Given the description of an element on the screen output the (x, y) to click on. 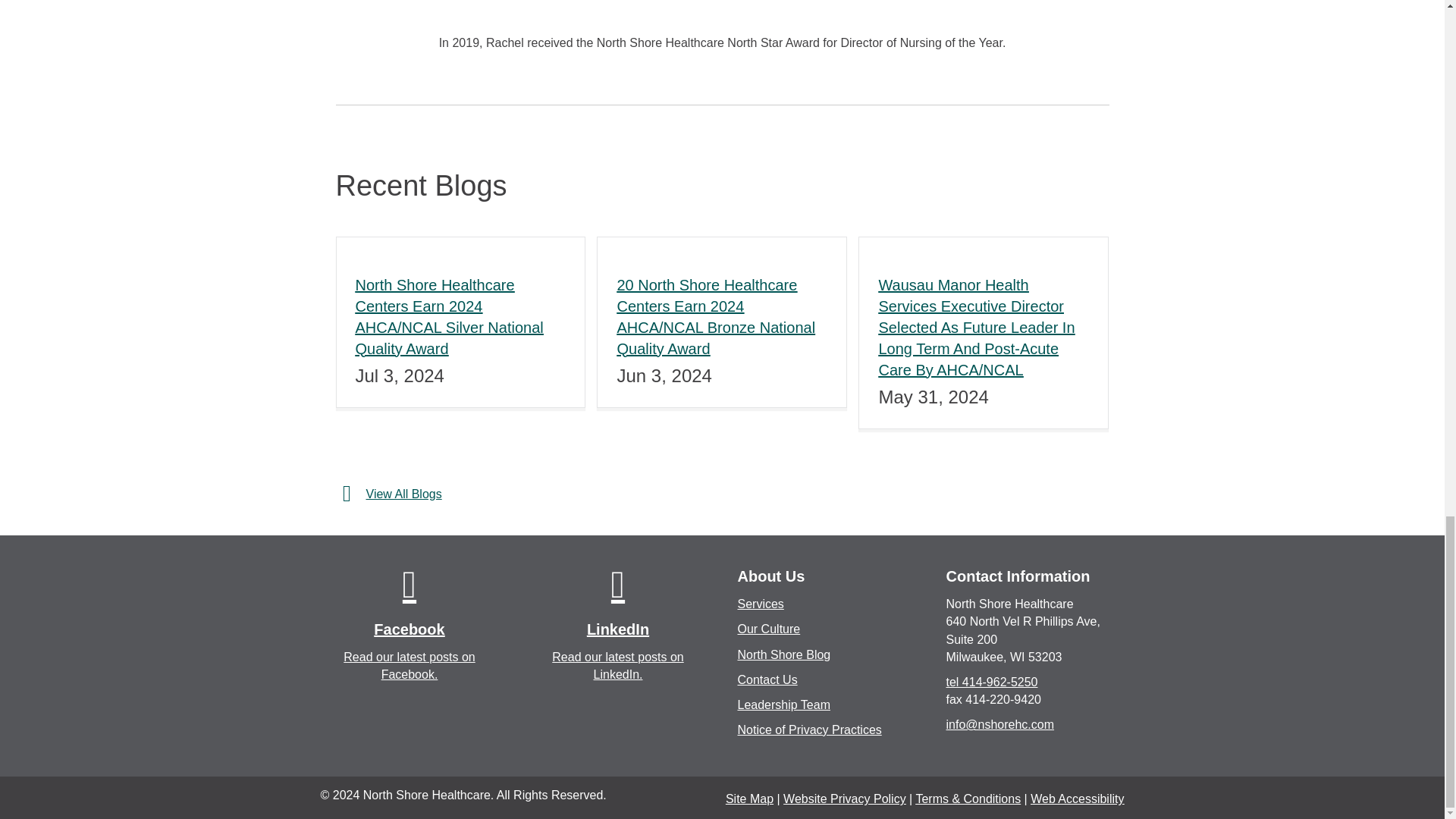
North Shore Blog (782, 654)
tel 414-962-5250 (992, 681)
Read our latest posts on LinkedIn. (616, 665)
Contact Us (766, 679)
Web Accessibility (1077, 798)
Leadership Team (782, 704)
Notice of Privacy Practices (808, 729)
Read our latest posts on Facebook. (408, 665)
Site Map (749, 798)
LinkedIn (617, 584)
